Given the description of an element on the screen output the (x, y) to click on. 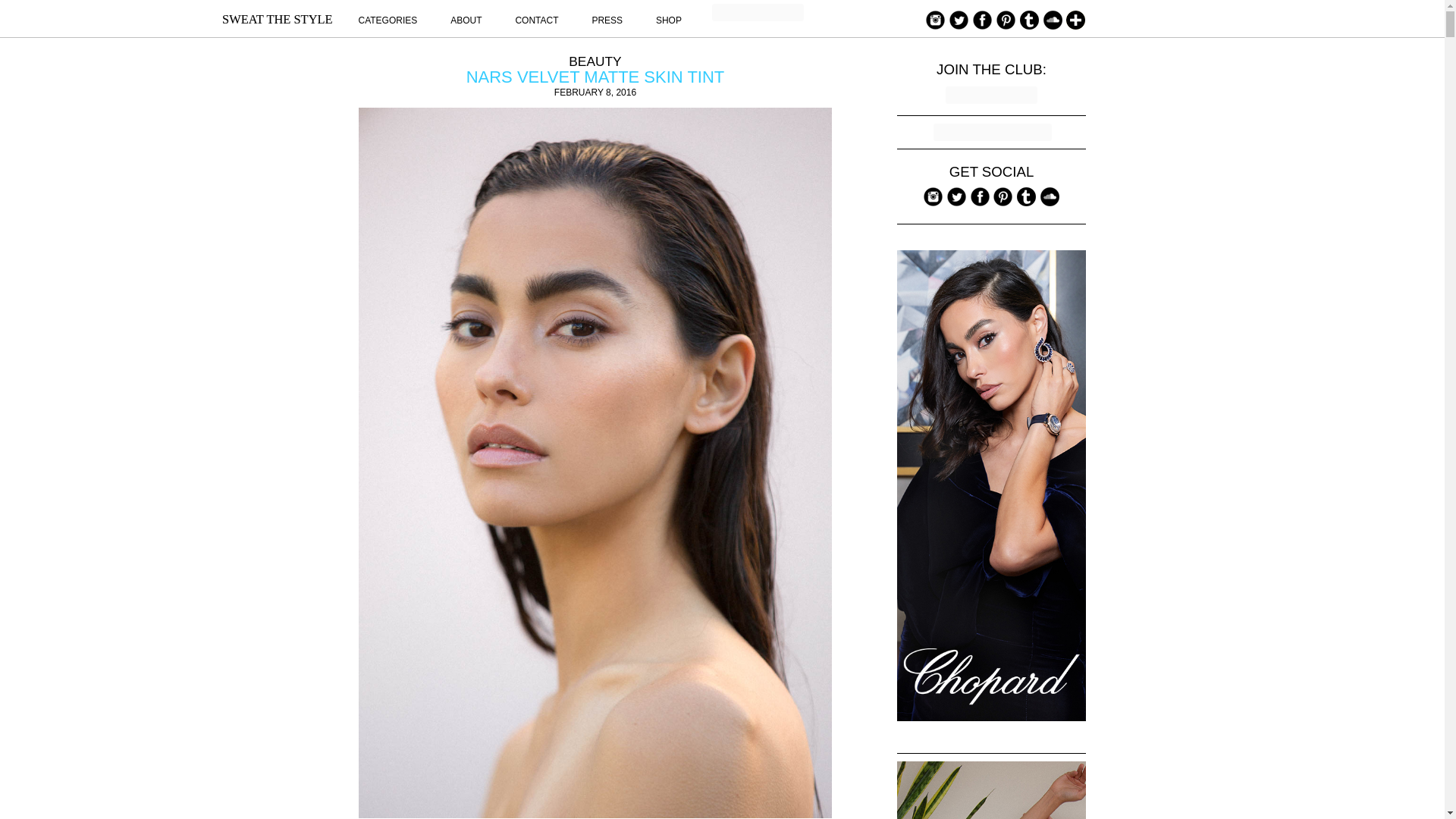
CONTACT (536, 20)
Skip to content (895, 9)
PRESS (607, 20)
ABOUT (465, 20)
1:08 am (595, 91)
CATEGORIES (387, 20)
Skip to content (895, 9)
